Given the description of an element on the screen output the (x, y) to click on. 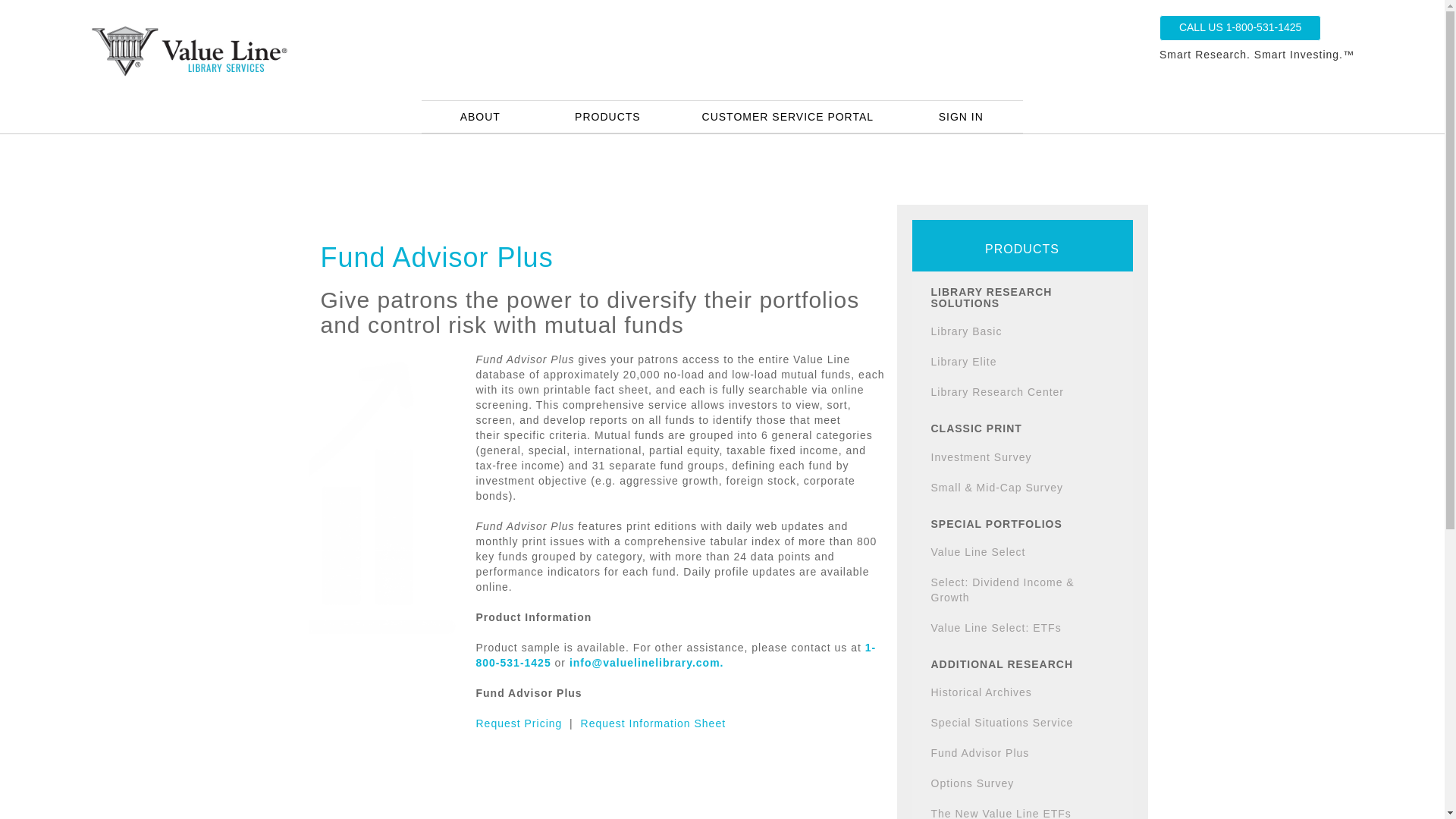
CUSTOMER SERVICE PORTAL (788, 116)
ABOUT (481, 116)
SIGN IN (961, 116)
1-800-531-1425 (676, 655)
PRODUCTS (607, 116)
Home (341, 50)
CALL US 1-800-531-1425 (1239, 27)
